Given the description of an element on the screen output the (x, y) to click on. 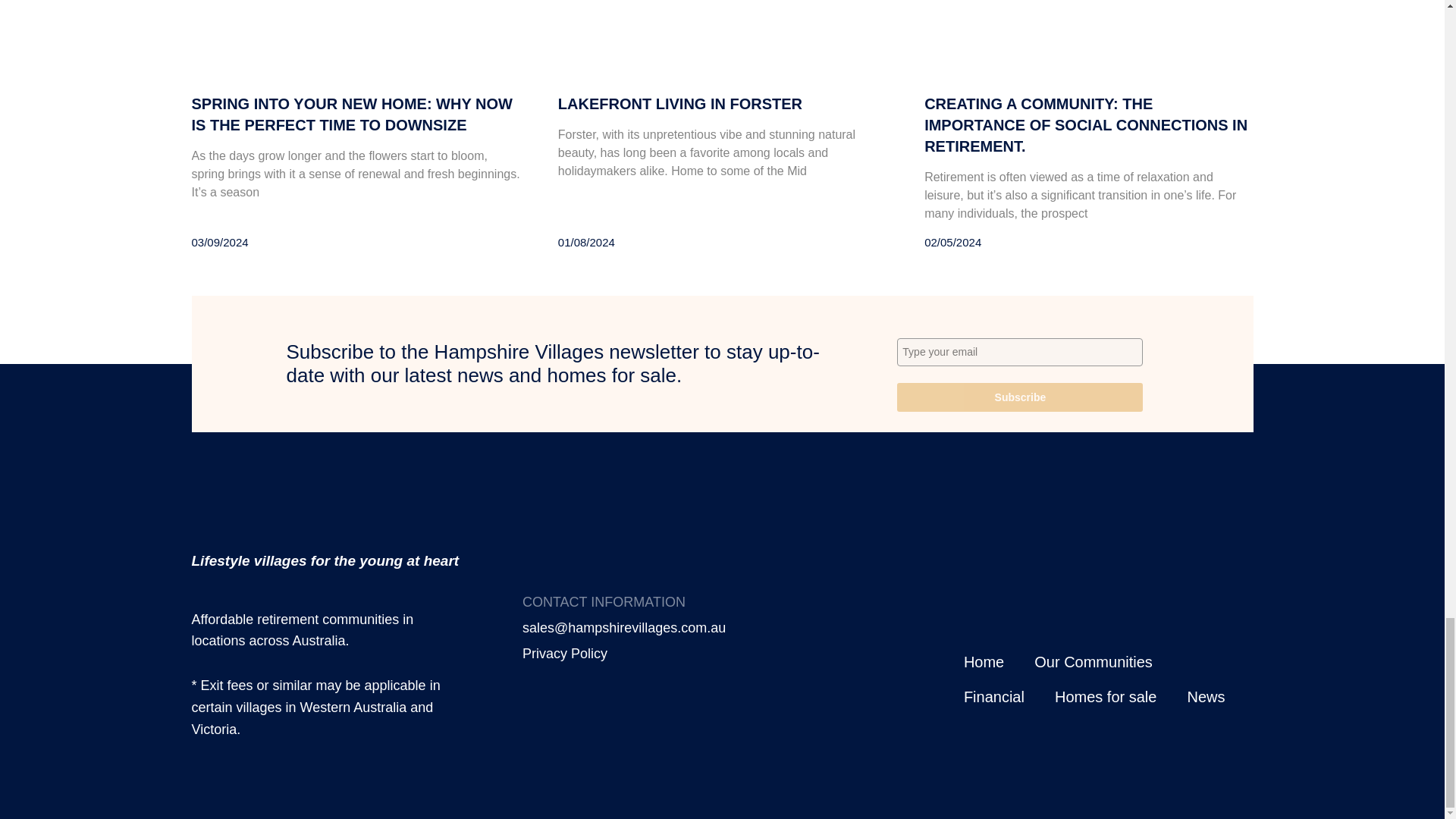
Subscribe (1019, 397)
LAKEFRONT LIVING IN FORSTER (679, 103)
